Given the description of an element on the screen output the (x, y) to click on. 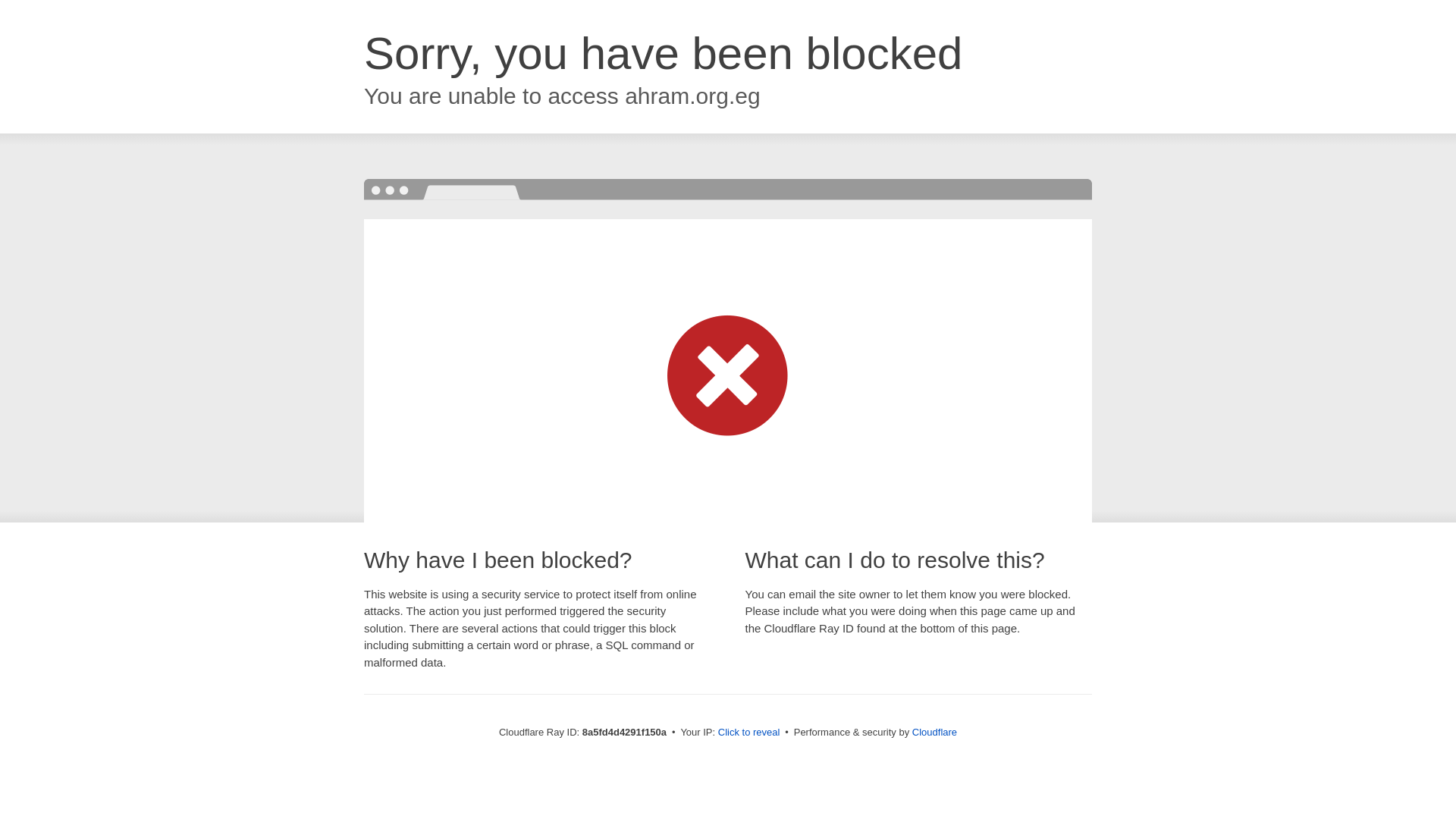
Click to reveal (748, 732)
Cloudflare (934, 731)
